Given the description of an element on the screen output the (x, y) to click on. 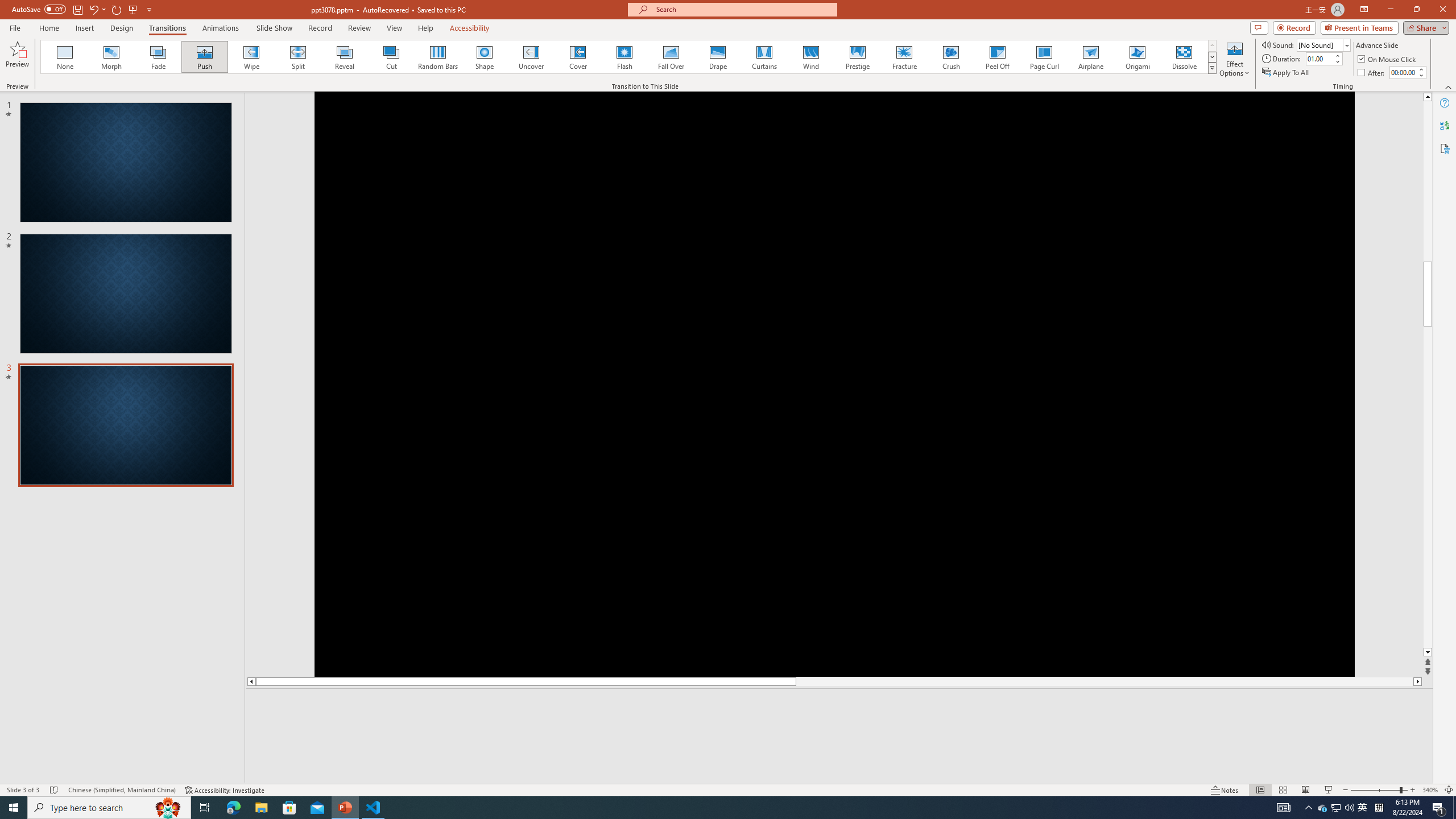
Zoom 340% (1430, 790)
Apply To All (1286, 72)
Split (298, 56)
Cover (577, 56)
Wipe (251, 56)
